Given the description of an element on the screen output the (x, y) to click on. 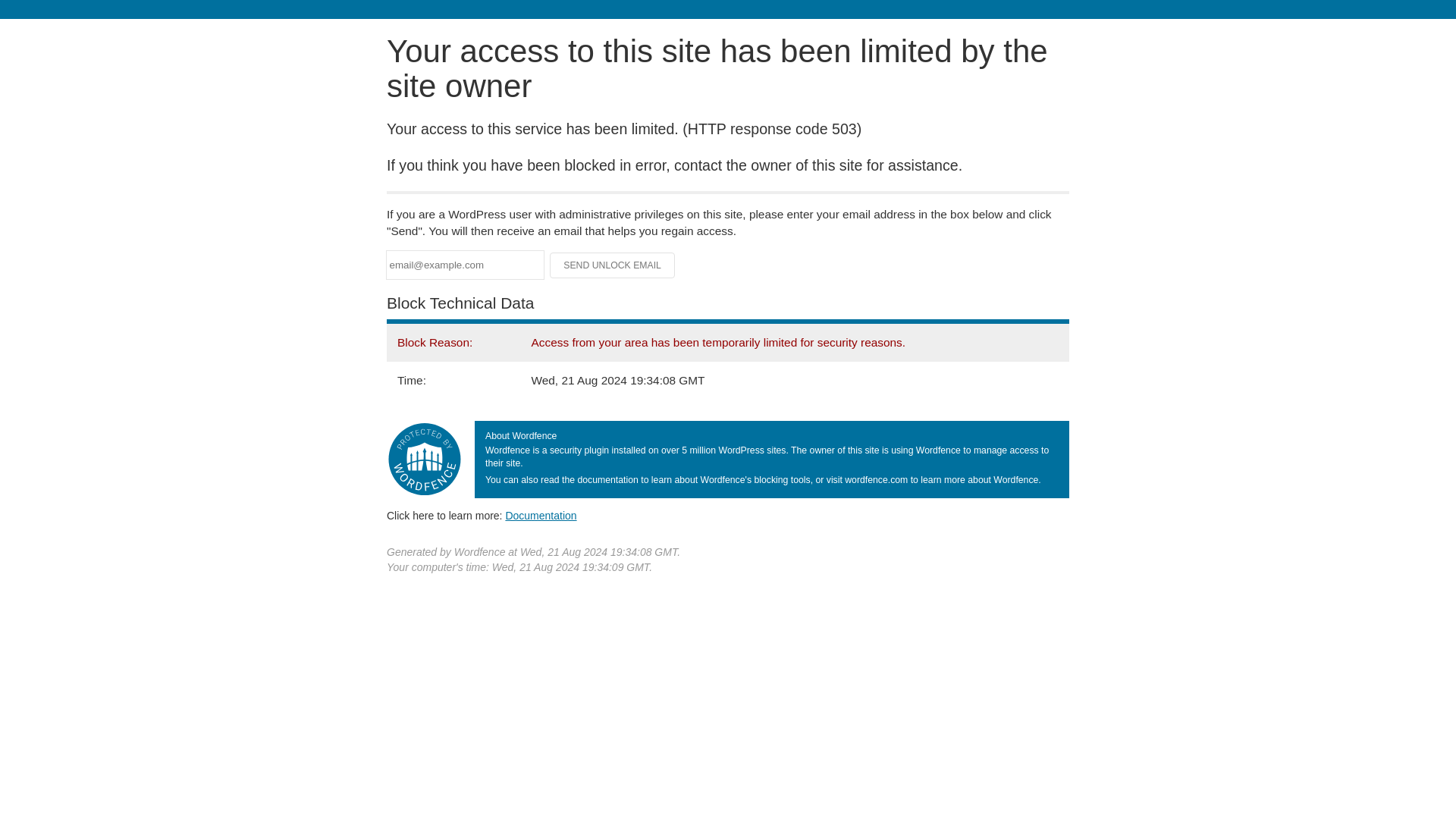
Send Unlock Email (612, 265)
Send Unlock Email (612, 265)
Documentation (540, 515)
